Given the description of an element on the screen output the (x, y) to click on. 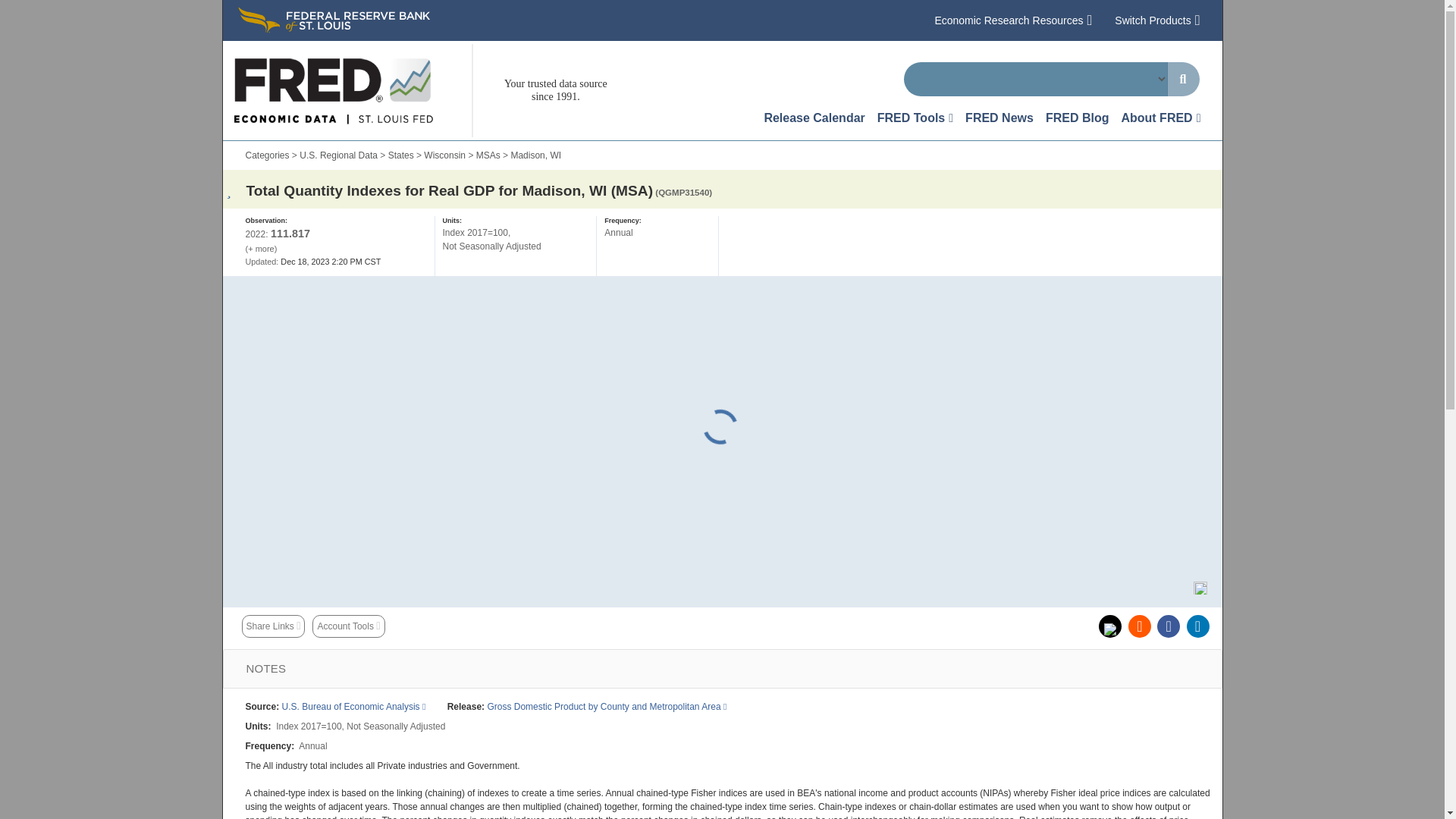
Share on X (1110, 626)
Share on Reddit (1139, 626)
Dec 18, 2023 2:20 PM CST (313, 261)
Post on Facebook (1168, 626)
Post to Linkedin (1197, 626)
